Given the description of an element on the screen output the (x, y) to click on. 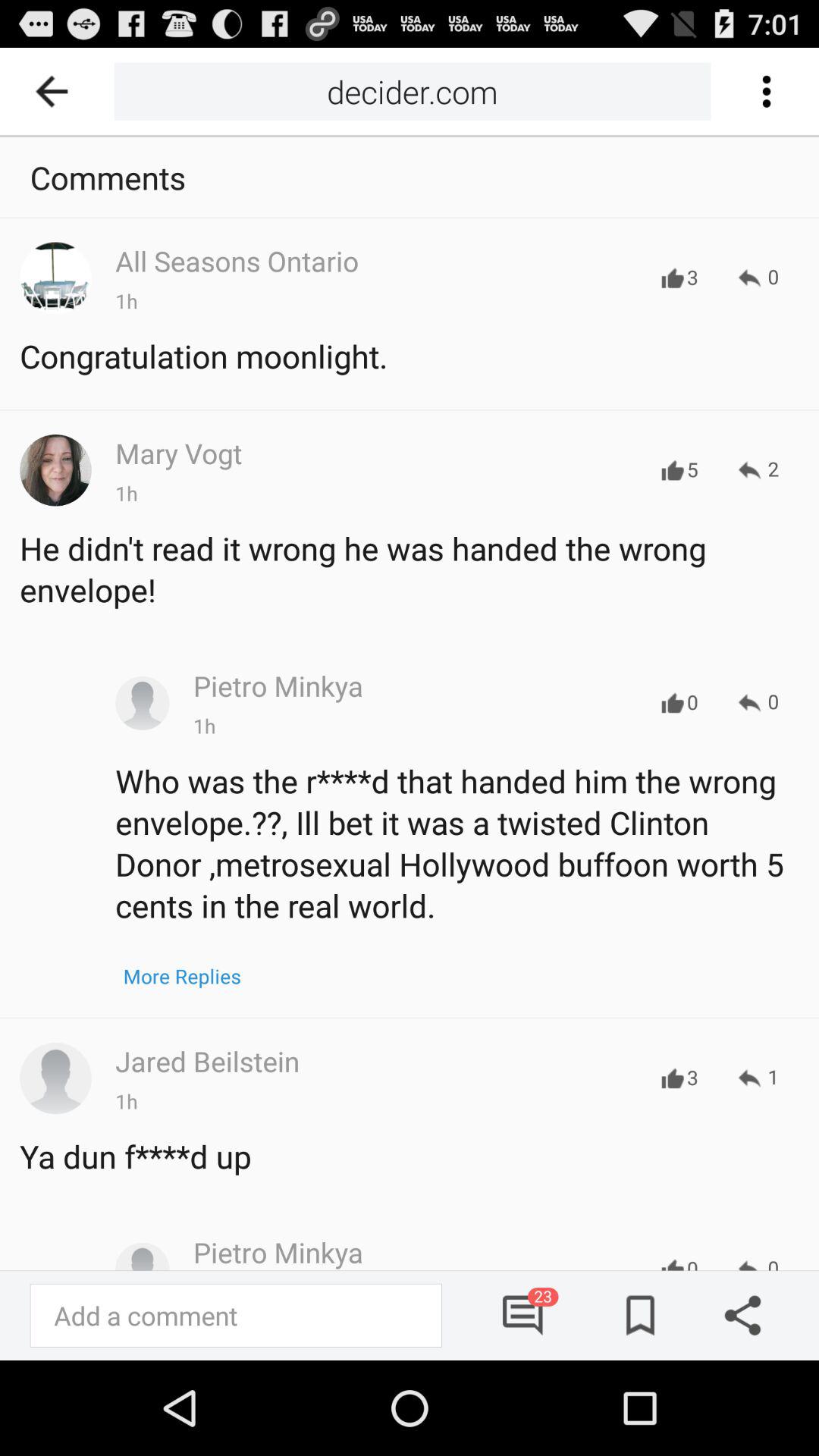
bookmark (635, 1315)
